Given the description of an element on the screen output the (x, y) to click on. 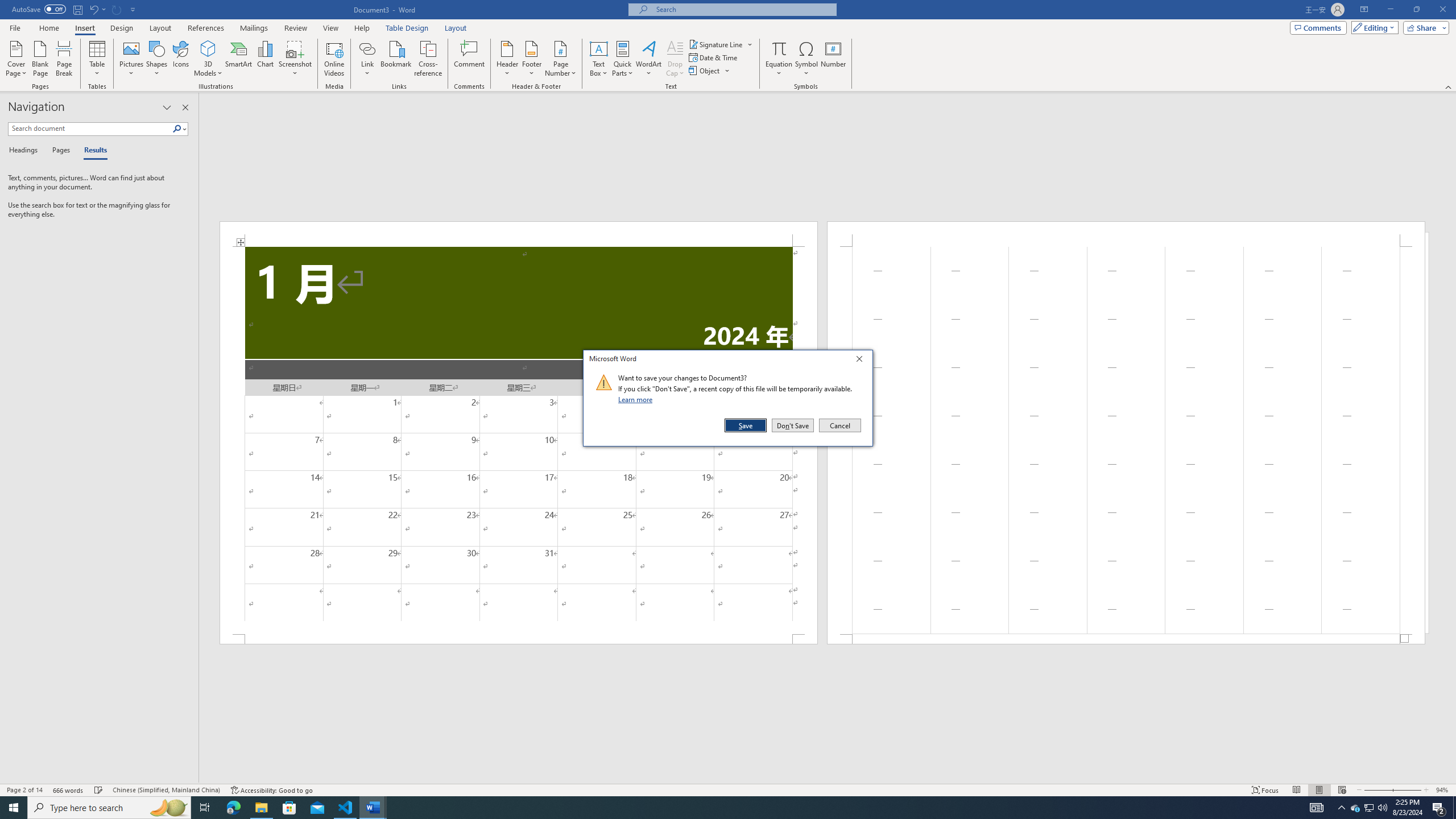
Link (367, 48)
Word Count 666 words (68, 790)
AutomationID: 4105 (1316, 807)
Number... (833, 58)
Start (13, 807)
WordArt (648, 58)
Chart... (265, 58)
